Given the description of an element on the screen output the (x, y) to click on. 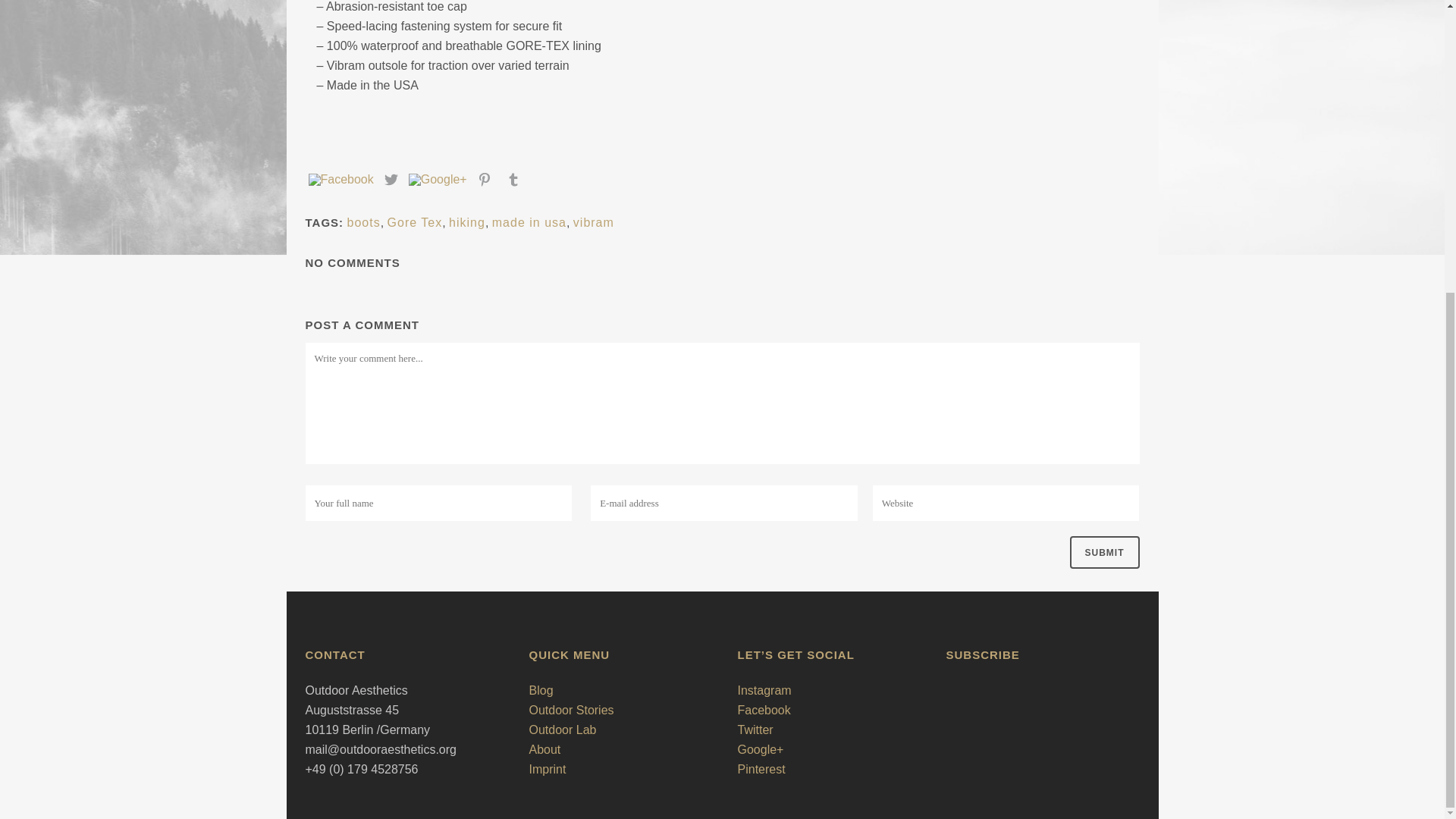
hiking (466, 222)
boots (363, 222)
made in usa (529, 222)
Gore Tex (414, 222)
Facebook (339, 180)
Tumblr (513, 180)
Twitter (391, 180)
Submit (1103, 552)
Pinterest (484, 180)
